Given the description of an element on the screen output the (x, y) to click on. 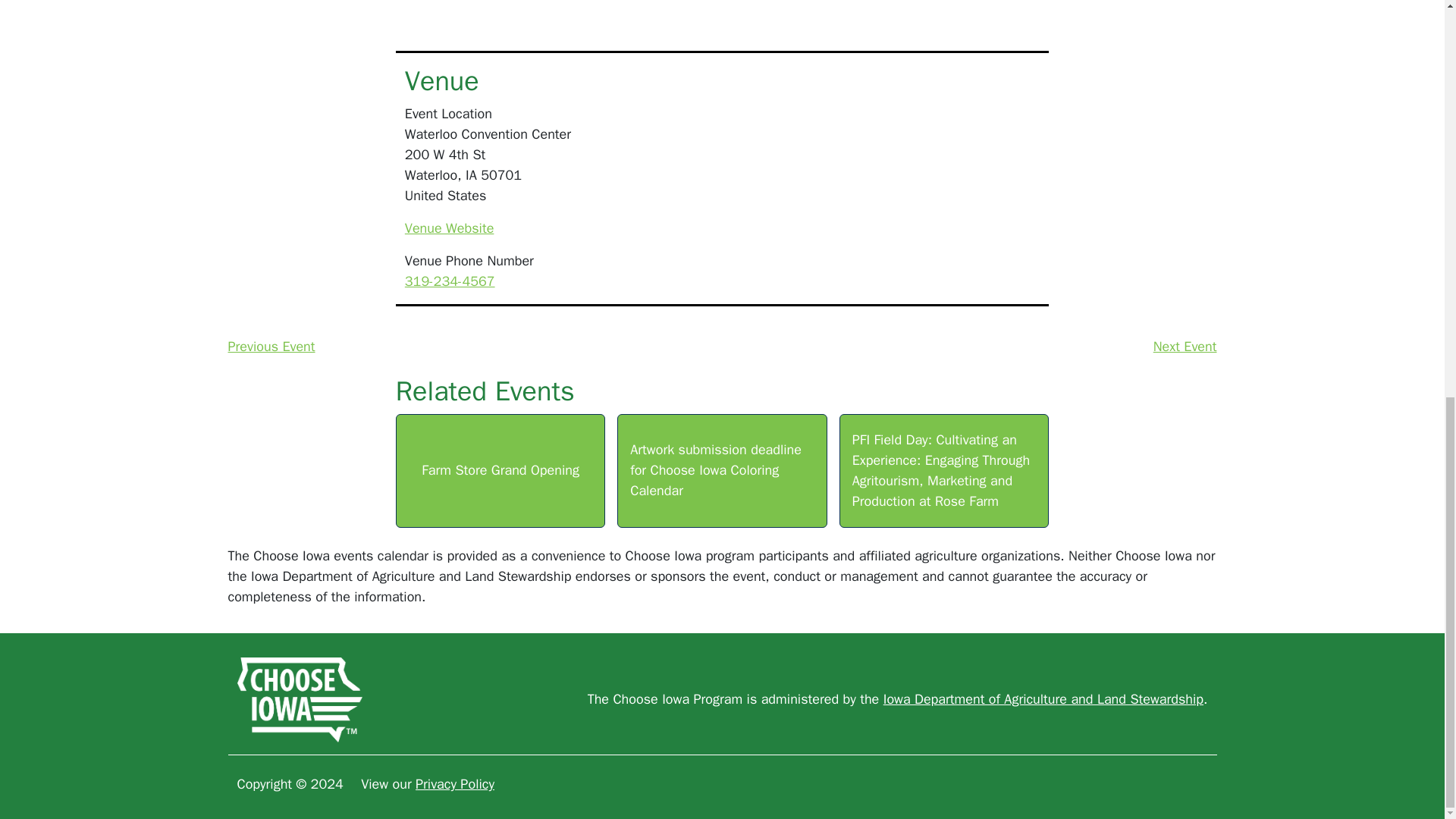
Share to Email (579, 3)
Venue Website (449, 228)
Share to X (545, 3)
Previous Event (270, 346)
319-234-4567 (449, 280)
Iowa Department of Agriculture and Land Stewardship (1043, 699)
Farm Store Grand Opening (500, 470)
Next Event (1185, 346)
